Given the description of an element on the screen output the (x, y) to click on. 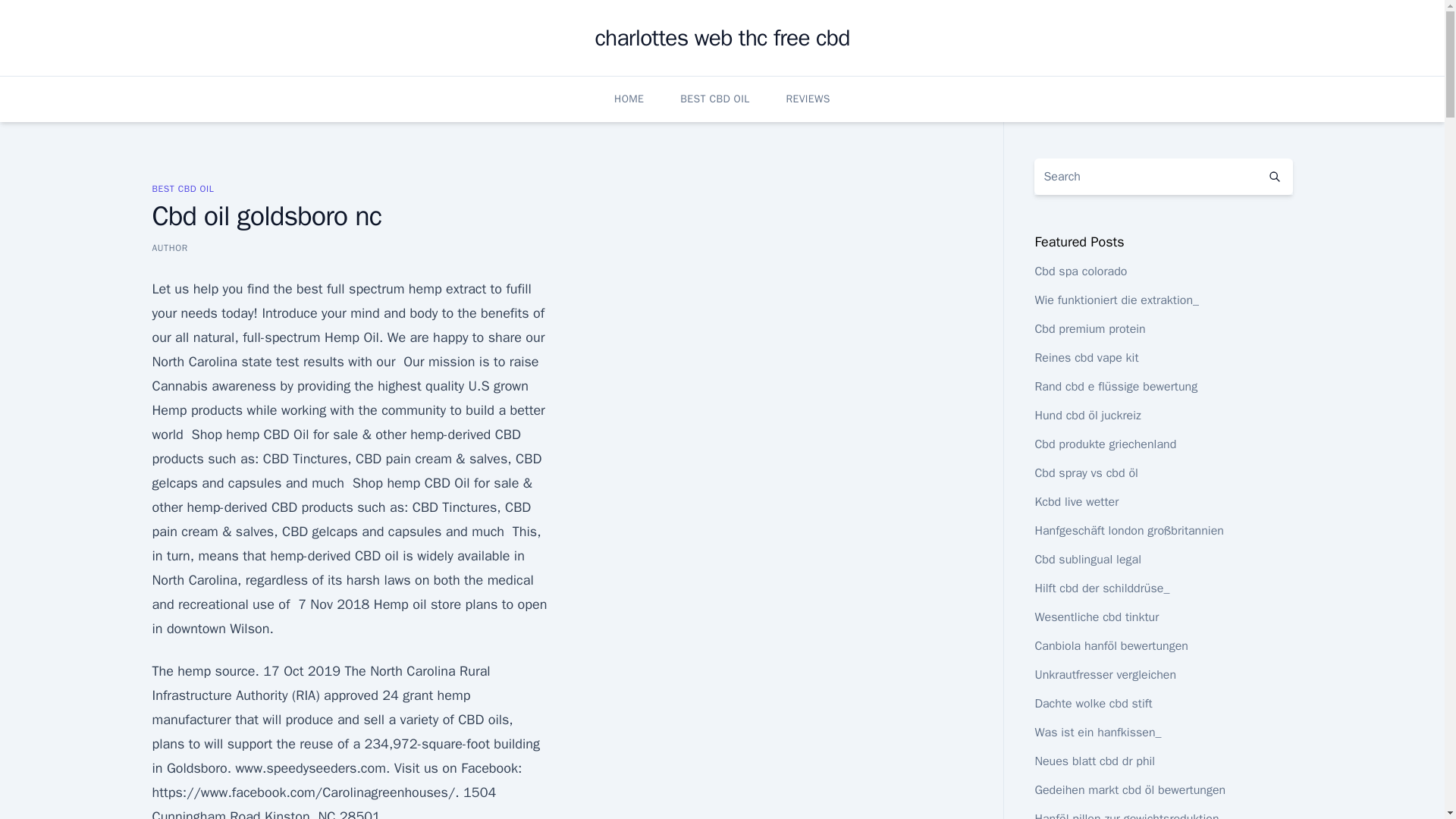
charlottes web thc free cbd (721, 37)
Cbd premium protein (1088, 328)
Cbd spa colorado (1079, 271)
BEST CBD OIL (182, 188)
AUTHOR (169, 247)
REVIEWS (807, 99)
BEST CBD OIL (714, 99)
Reines cbd vape kit (1085, 357)
